Given the description of an element on the screen output the (x, y) to click on. 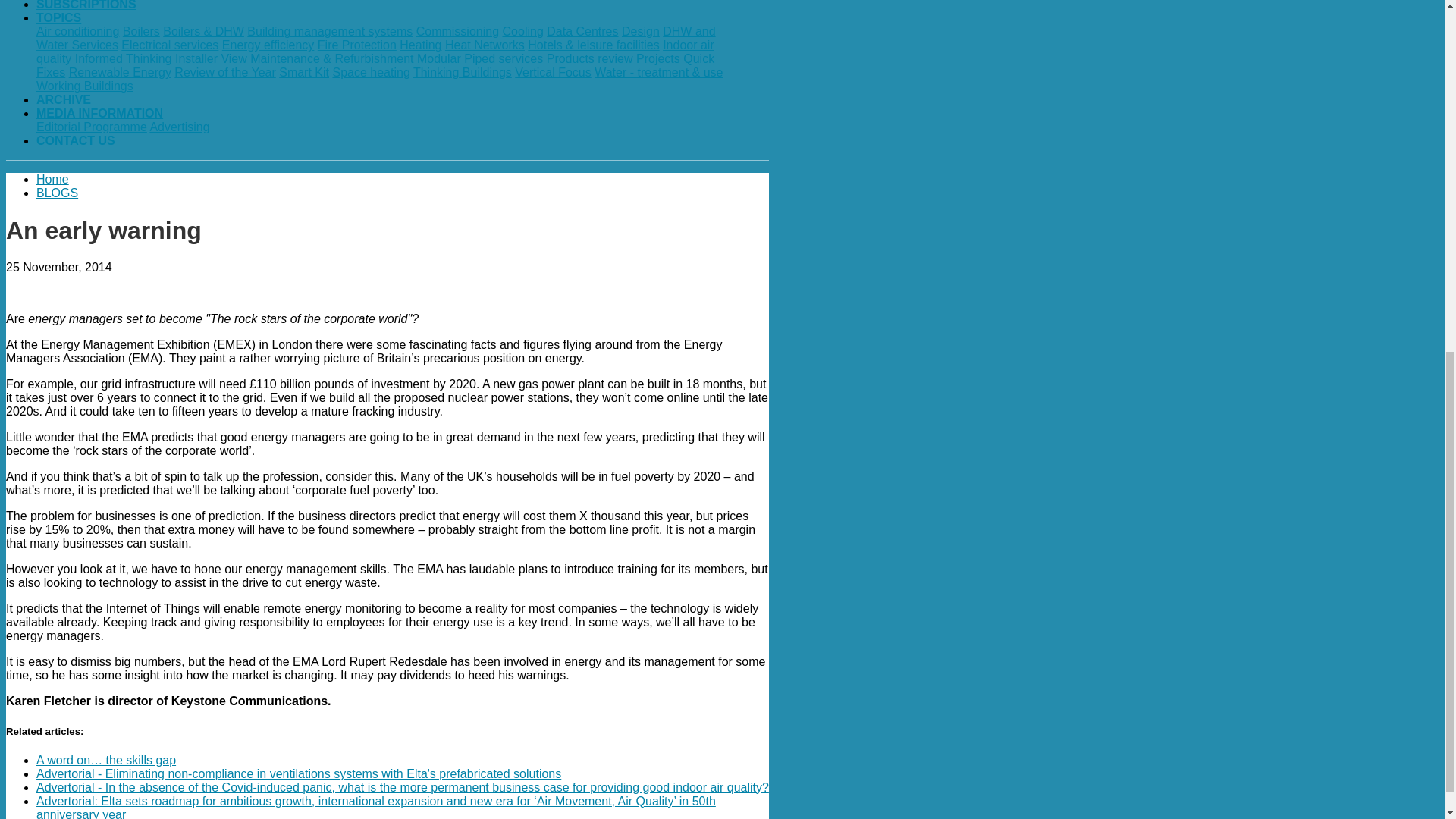
Air conditioning (77, 31)
Piped services (503, 58)
SUBSCRIPTIONS (86, 5)
Installer View (210, 58)
Renewable Energy (119, 72)
Quick Fixes (375, 65)
Smart Kit (304, 72)
Indoor air quality (375, 51)
Heating (419, 44)
Review of the Year (224, 72)
